Given the description of an element on the screen output the (x, y) to click on. 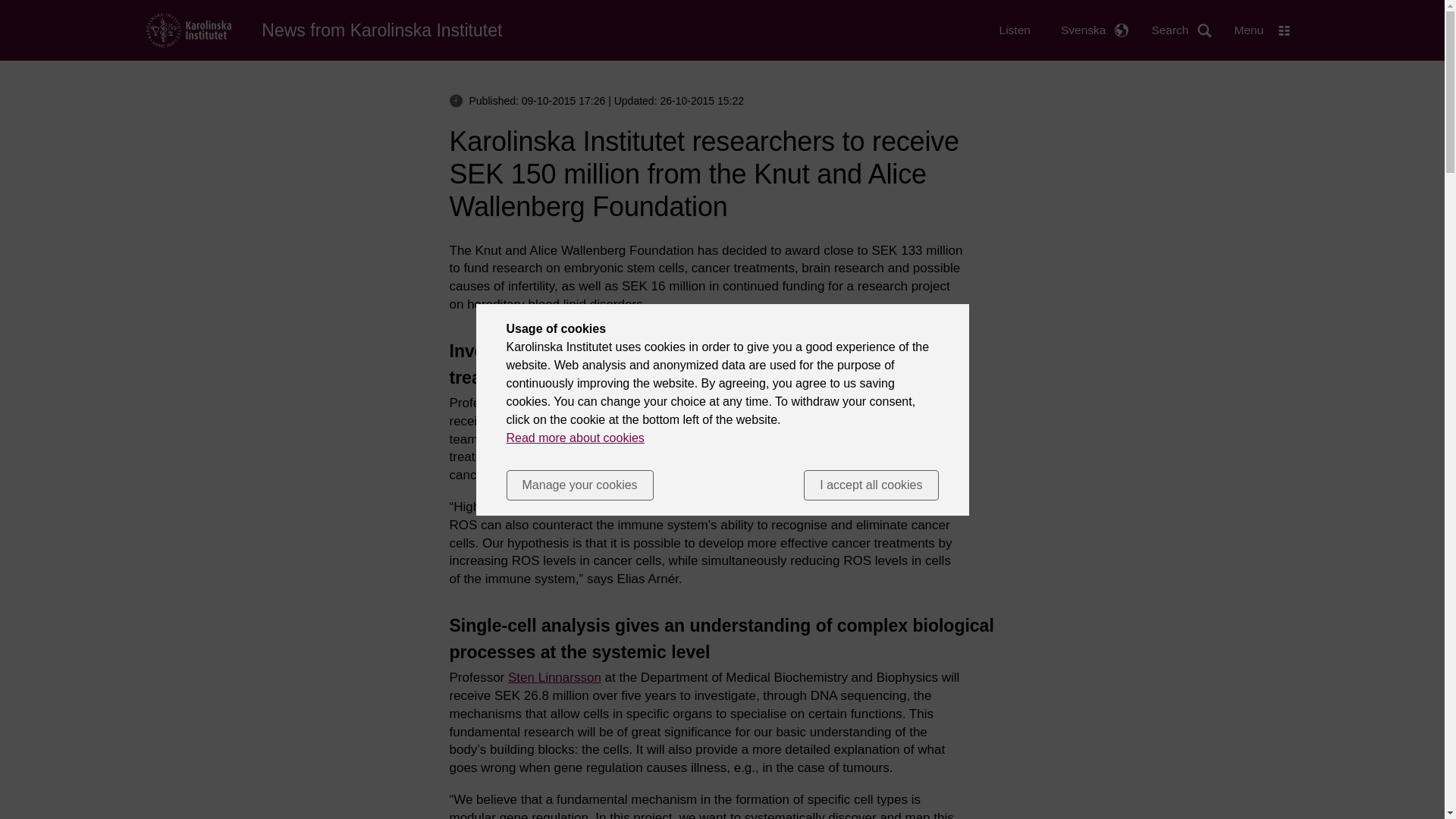
Home (382, 30)
Home (188, 29)
Listen (1014, 30)
Sten Linnarsson (554, 677)
News from Karolinska Institutet (382, 30)
